Given the description of an element on the screen output the (x, y) to click on. 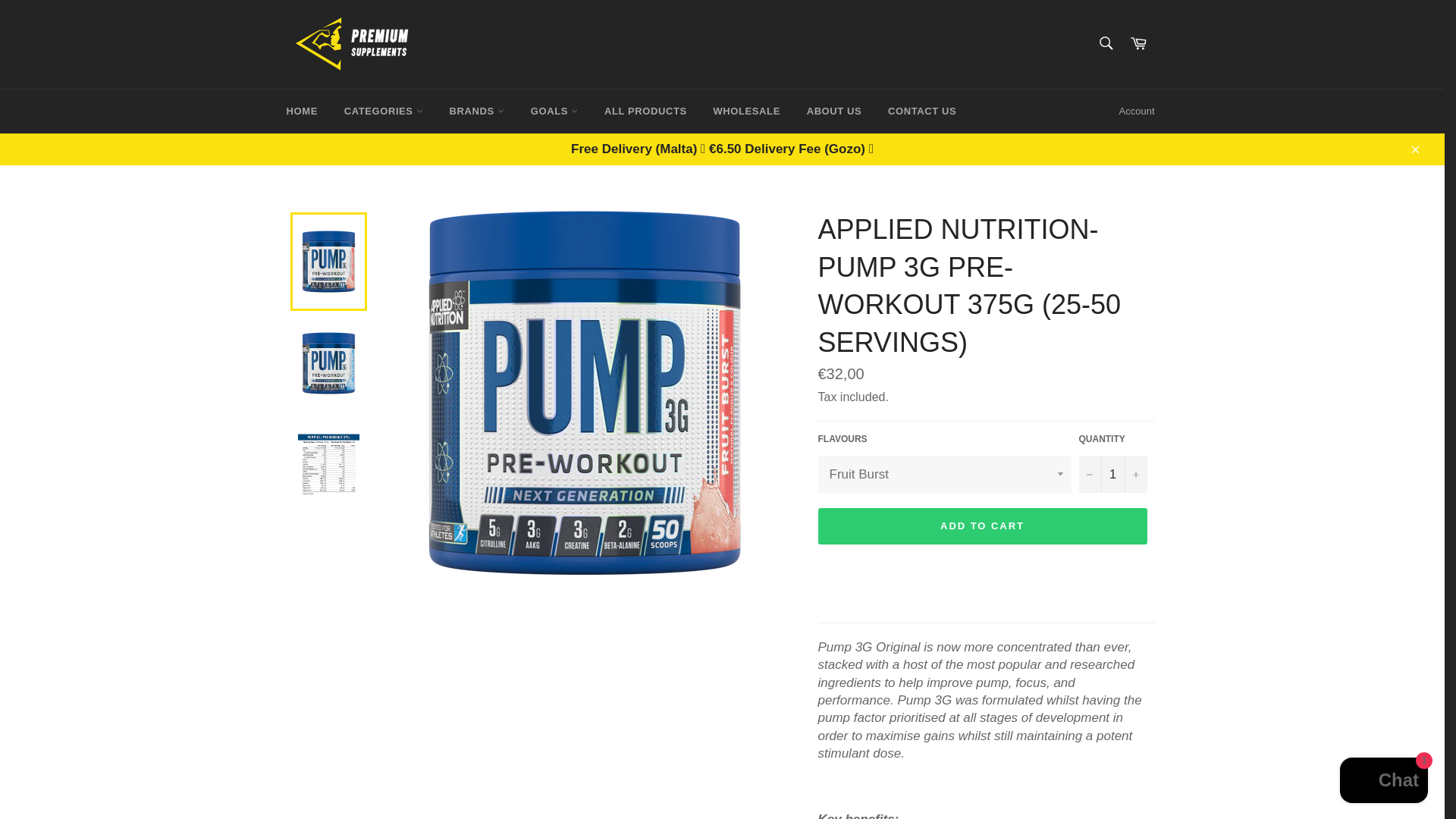
1 (1112, 474)
Shopify online store chat (1383, 781)
